Given the description of an element on the screen output the (x, y) to click on. 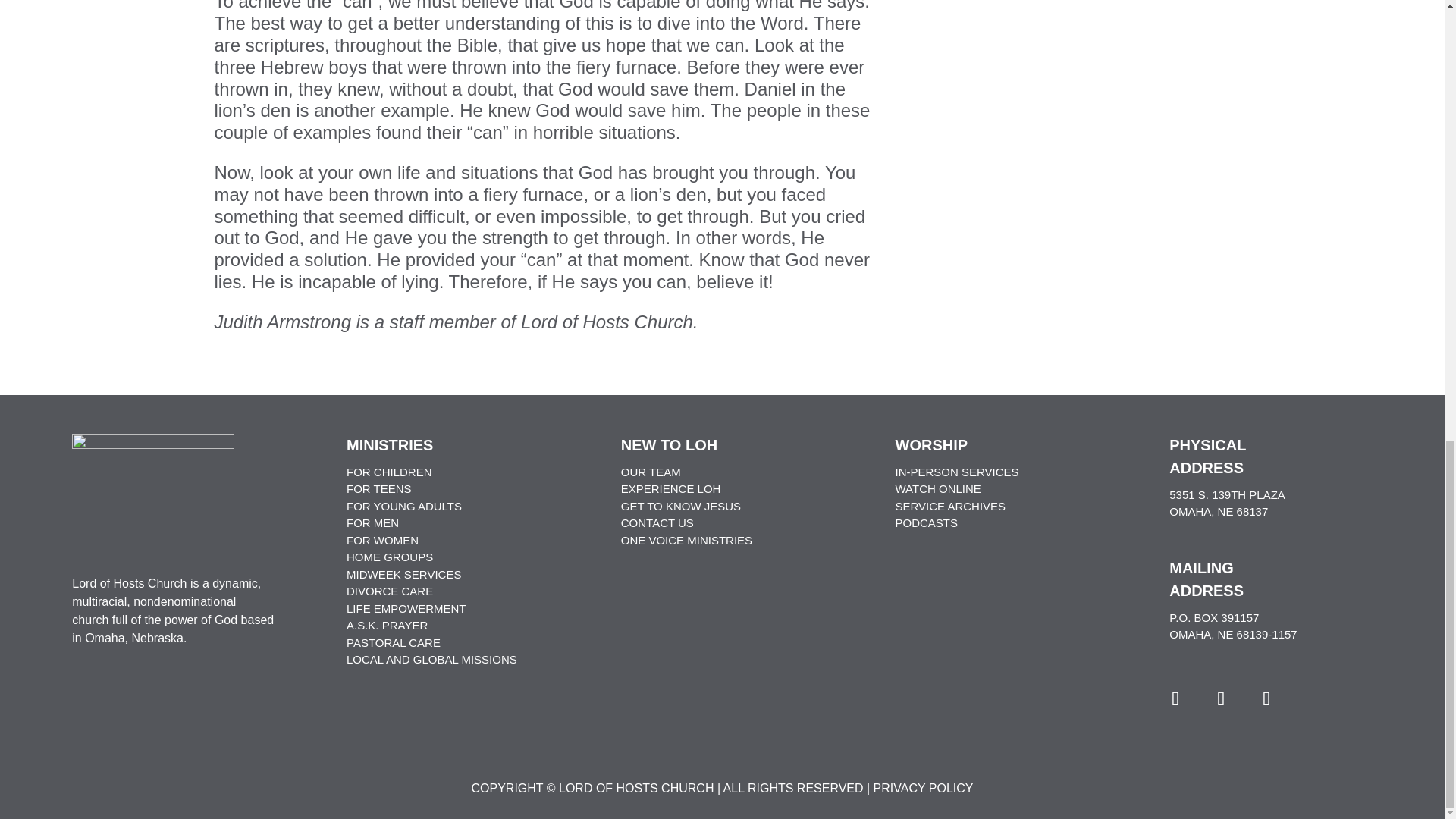
Follow on X (1265, 699)
Follow on Instagram (1220, 699)
LOH-logo-white (152, 486)
Follow on Facebook (1175, 699)
